Given the description of an element on the screen output the (x, y) to click on. 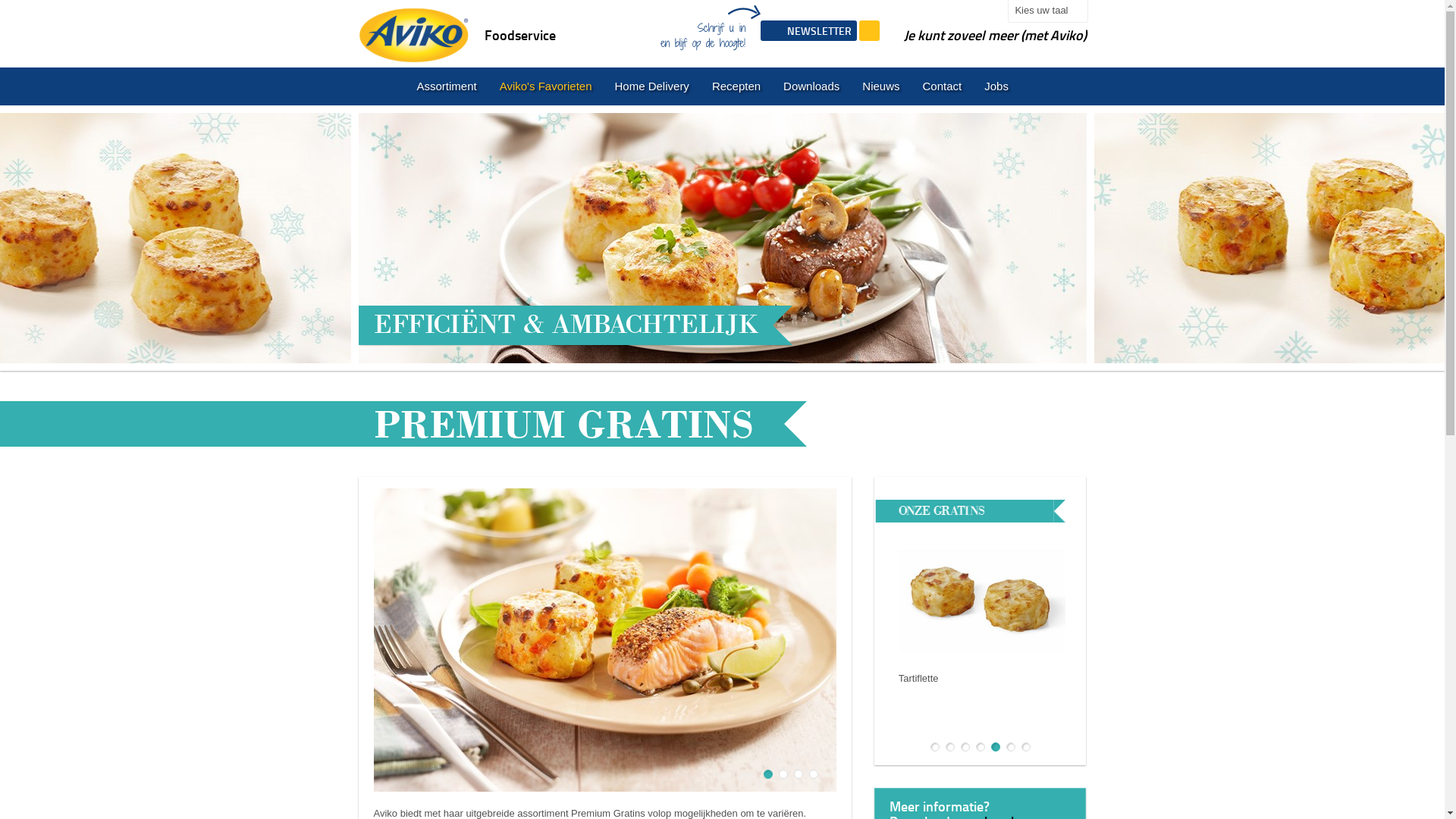
Jobs Element type: text (995, 86)
4 Element type: text (980, 746)
6 Element type: text (1010, 746)
2 Element type: text (782, 773)
Recepten Element type: text (735, 86)
nl Element type: text (381, 86)
Nieuws Element type: text (880, 86)
Downloads Element type: text (810, 86)
Bekijk product Element type: text (948, 710)
Home Delivery Element type: text (651, 86)
NEWSLETTER Element type: text (807, 30)
4 Element type: text (813, 773)
Bel ons Element type: text (869, 30)
3 Element type: text (964, 746)
Assortiment Element type: text (445, 86)
2 Element type: text (949, 746)
5 Element type: text (995, 746)
7 Element type: text (1025, 746)
Home Element type: text (412, 31)
Kies uw taal Element type: text (1047, 11)
Aviko's Favorieten Element type: text (545, 86)
3 Element type: text (798, 773)
1 Element type: text (767, 773)
1 Element type: text (934, 746)
Contact Element type: text (942, 86)
